Given the description of an element on the screen output the (x, y) to click on. 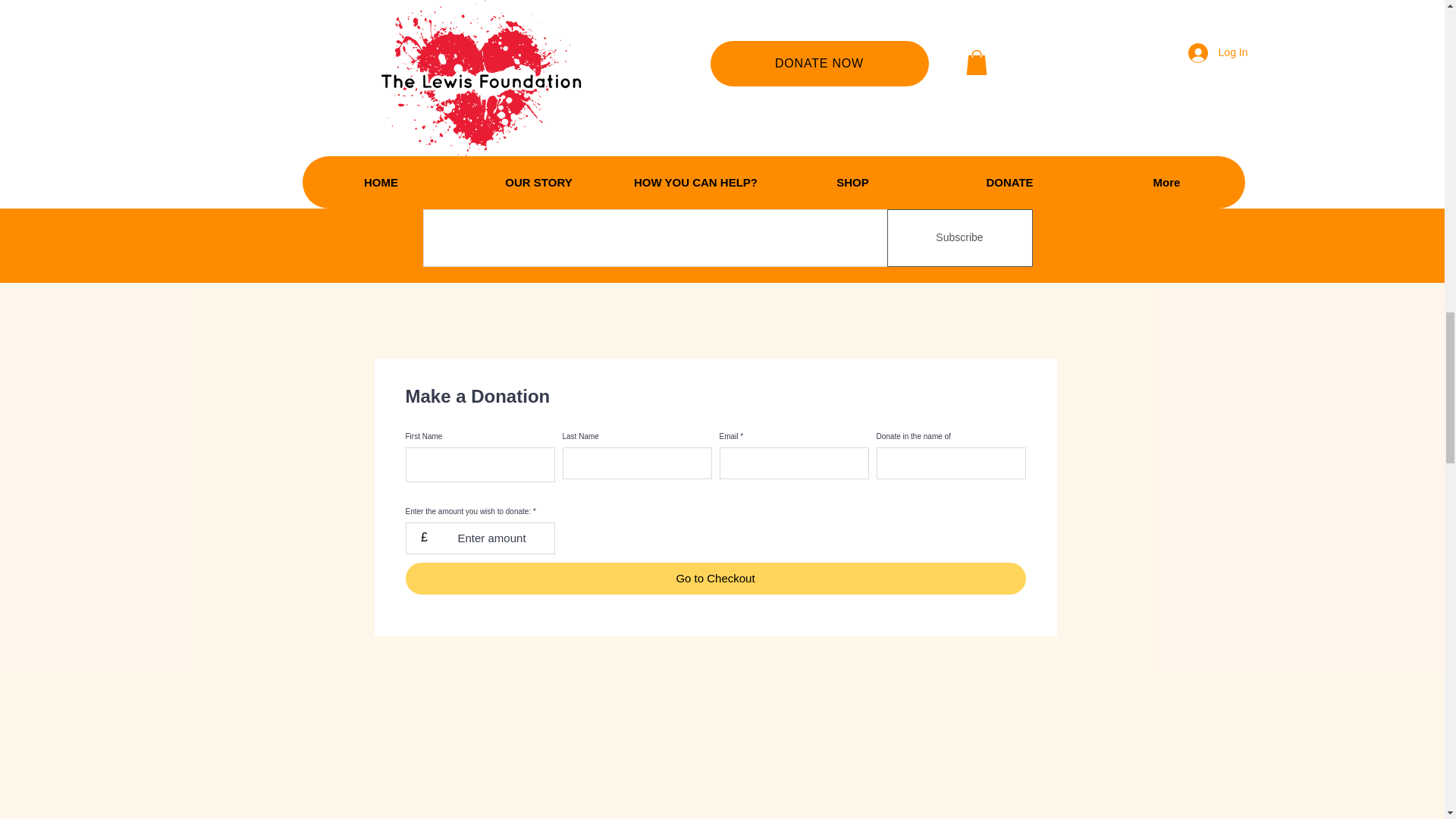
Go to Checkout (714, 578)
Subscribe (959, 237)
JOIN THE MOVEMENT (550, 105)
